Given the description of an element on the screen output the (x, y) to click on. 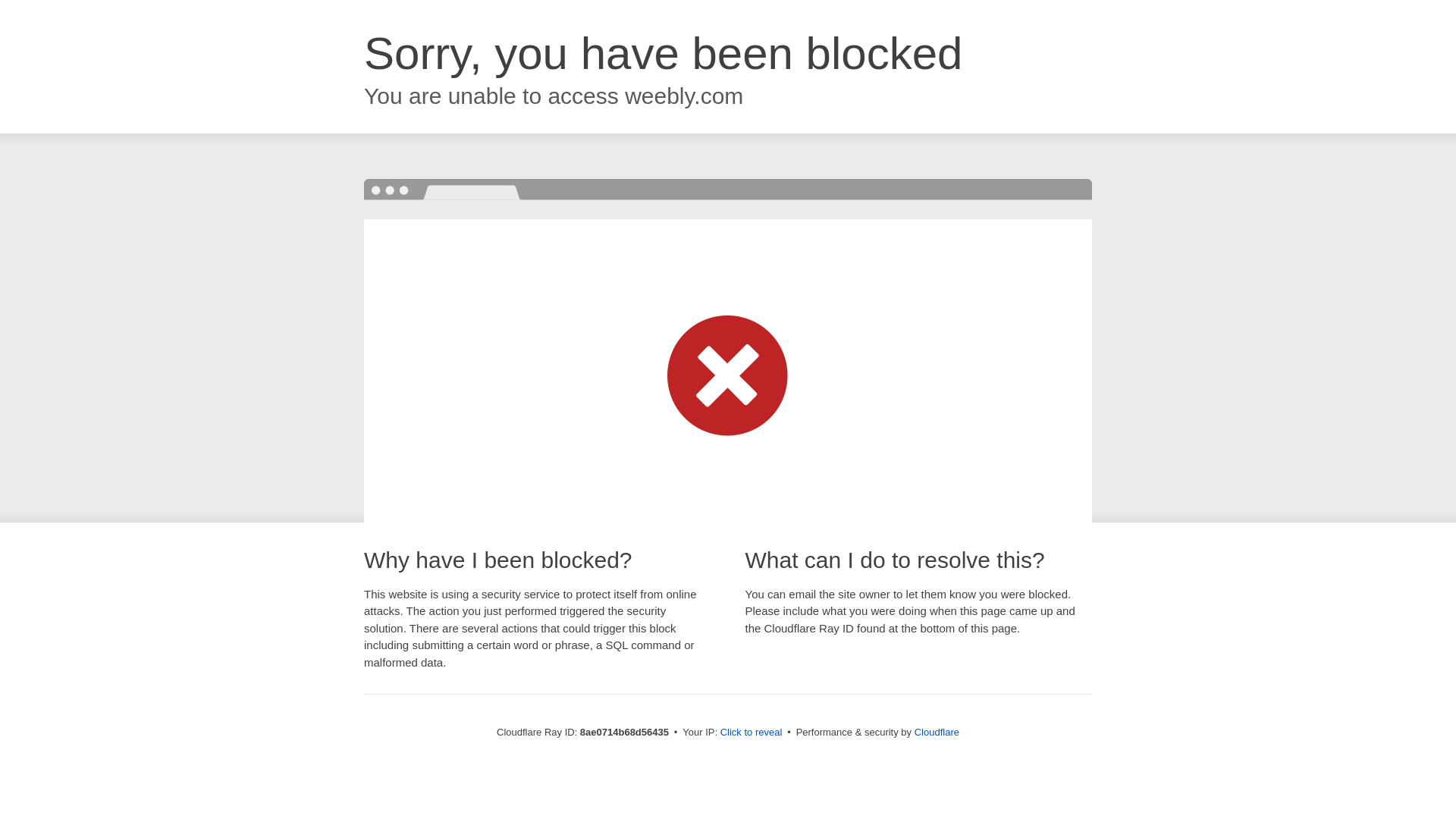
Click to reveal (751, 732)
Cloudflare (936, 731)
